Given the description of an element on the screen output the (x, y) to click on. 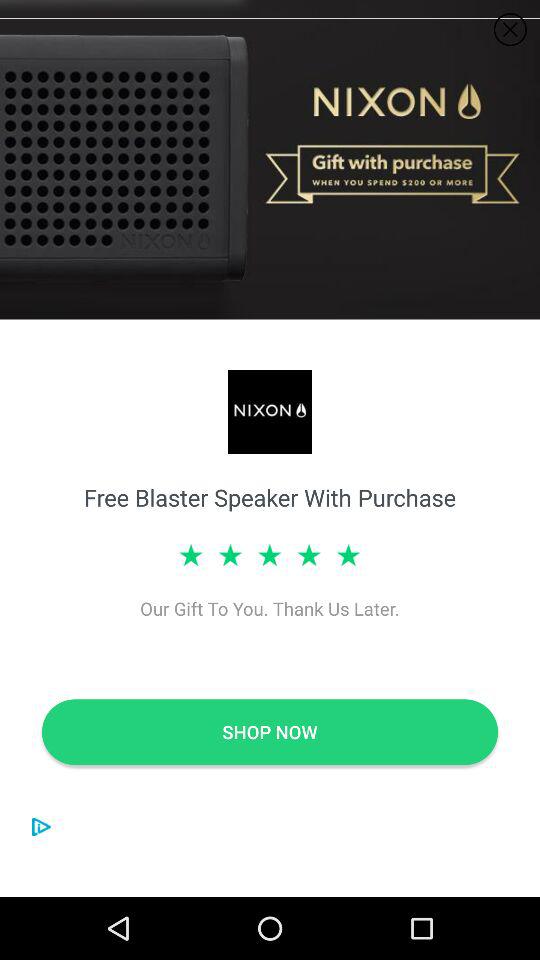
launch the shop now item (269, 732)
